Given the description of an element on the screen output the (x, y) to click on. 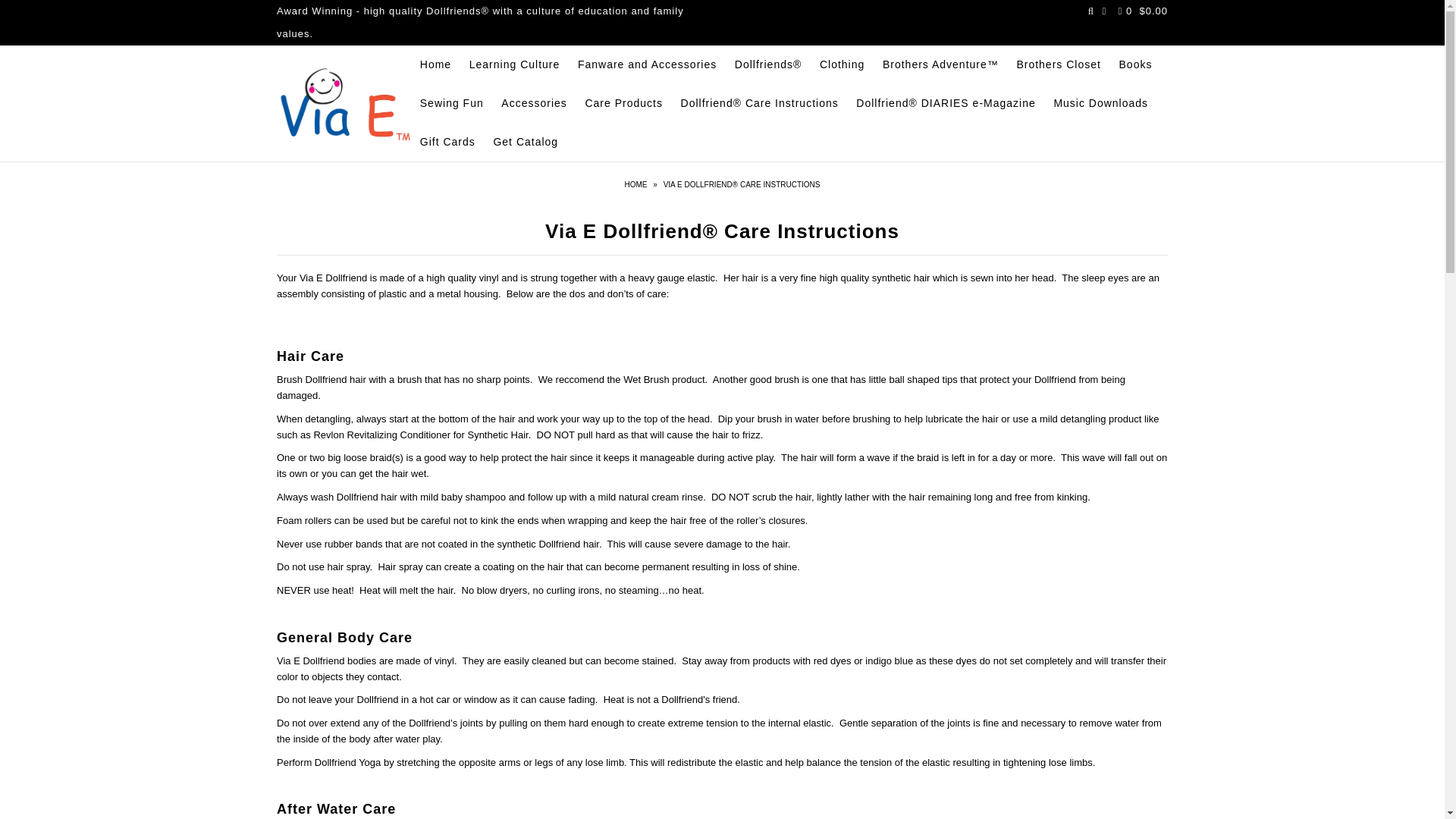
Clothing (842, 64)
Care Products (622, 102)
Home (637, 184)
Gift Cards (447, 141)
Music Downloads (1100, 102)
Get Catalog (525, 141)
Brothers Closet (1058, 64)
Fanware and Accessories (646, 64)
Sewing Fun (452, 102)
Learning Culture (514, 64)
